Given the description of an element on the screen output the (x, y) to click on. 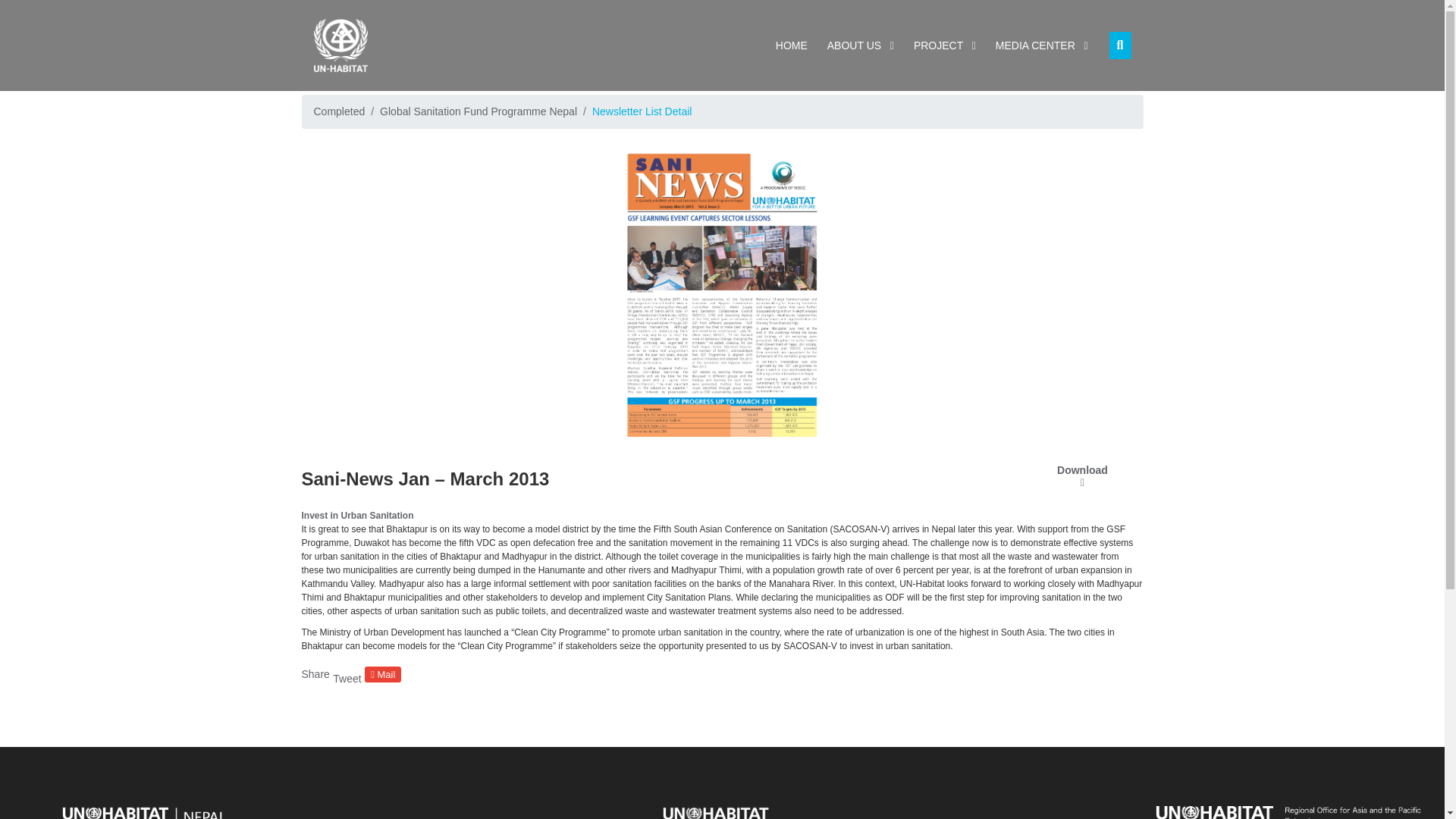
Global Sanitation Fund Programme Nepal (478, 111)
Tweet (347, 678)
ABOUT US   (860, 45)
Mail (383, 674)
MEDIA CENTER   (1042, 45)
PROJECT   (944, 45)
Completed (339, 111)
Share (315, 674)
